Given the description of an element on the screen output the (x, y) to click on. 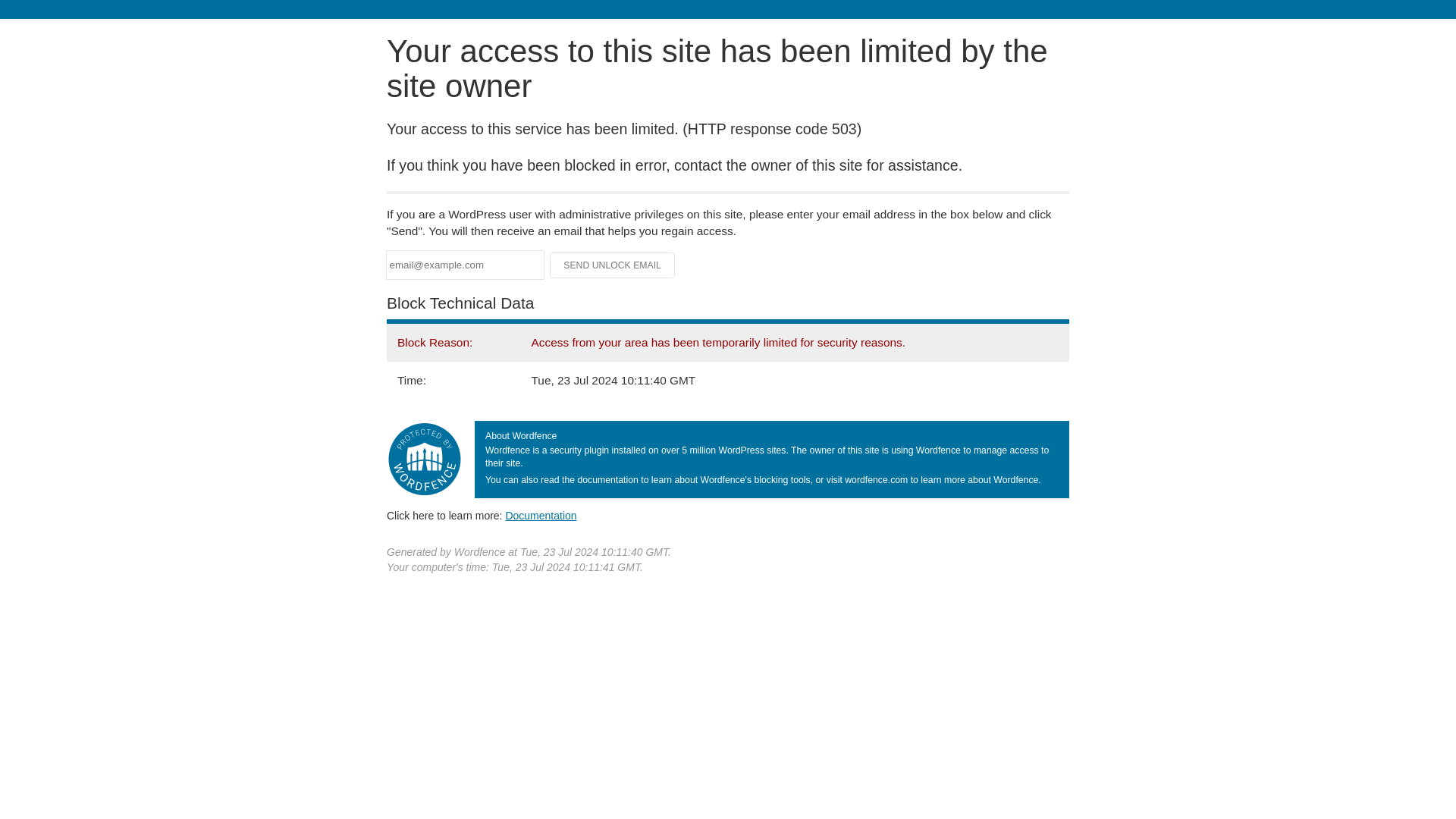
Send Unlock Email (612, 265)
Documentation (540, 515)
Send Unlock Email (612, 265)
